Given the description of an element on the screen output the (x, y) to click on. 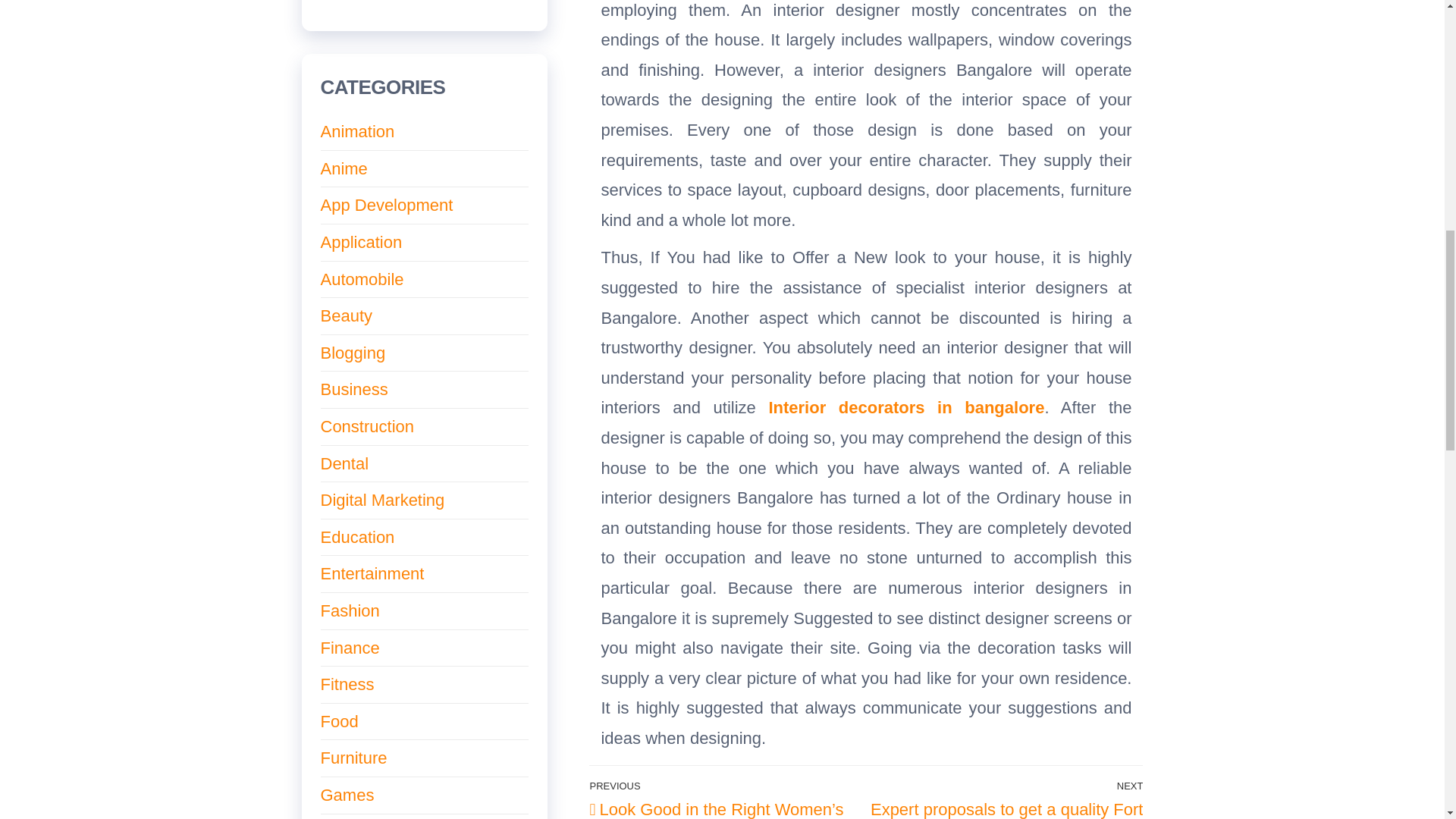
Entertainment (371, 573)
Business (353, 389)
Games (347, 794)
Dental (344, 463)
Finance (349, 647)
Anime (343, 168)
Interior decorators in bangalore (905, 407)
App Development (386, 204)
Beauty (346, 315)
